Given the description of an element on the screen output the (x, y) to click on. 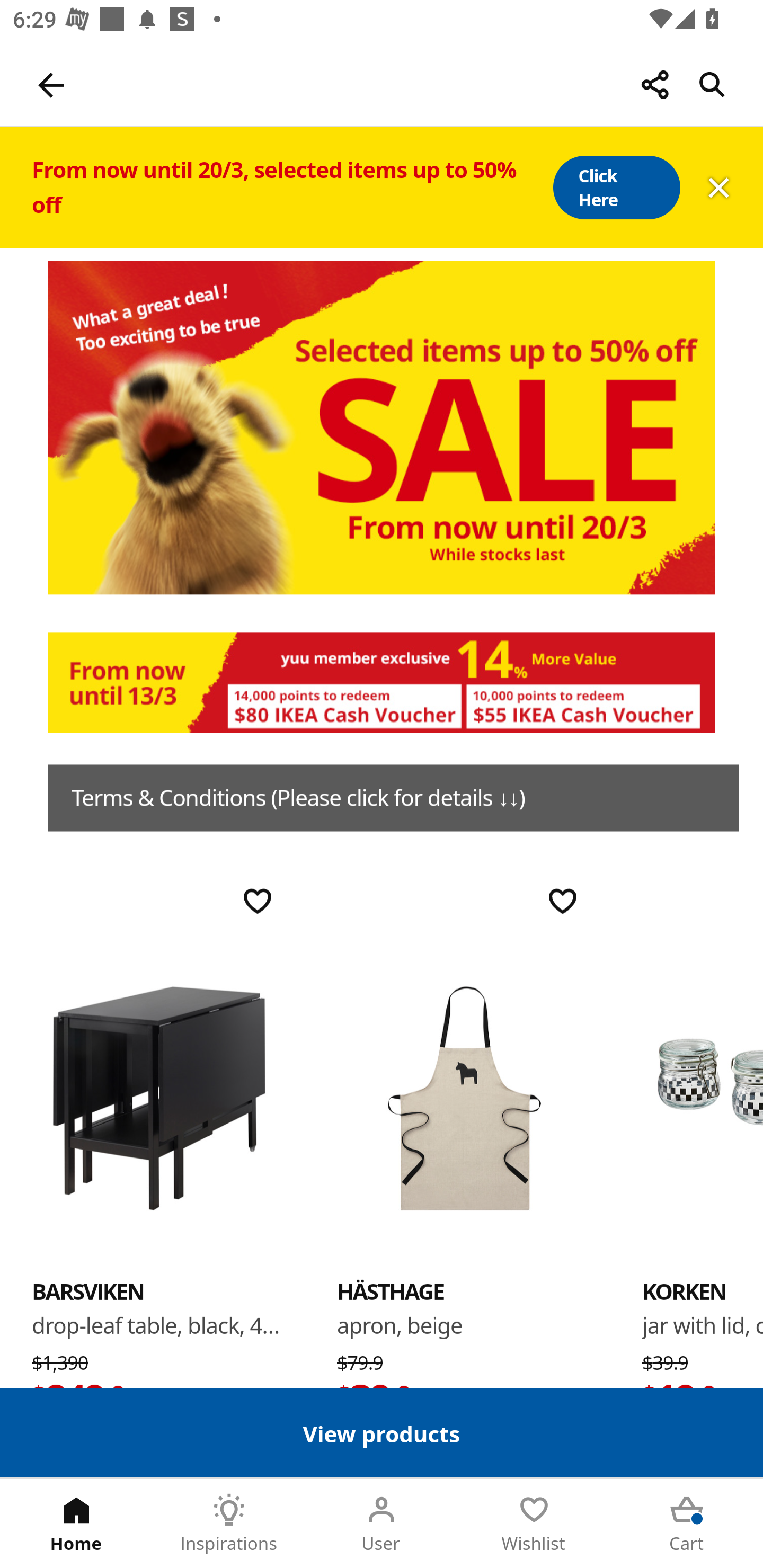
Click Here (615, 187)
Terms & Conditions (Please click for details ↓↓) (393, 798)
BARSVIKEN (159, 1096)
HÄSTHAGE (464, 1096)
KORKEN (702, 1096)
BARSVIKEN (88, 1290)
HÄSTHAGE (390, 1290)
KORKEN (684, 1290)
View products (381, 1432)
Home
Tab 1 of 5 (76, 1522)
Inspirations
Tab 2 of 5 (228, 1522)
User
Tab 3 of 5 (381, 1522)
Wishlist
Tab 4 of 5 (533, 1522)
Cart
Tab 5 of 5 (686, 1522)
